Given the description of an element on the screen output the (x, y) to click on. 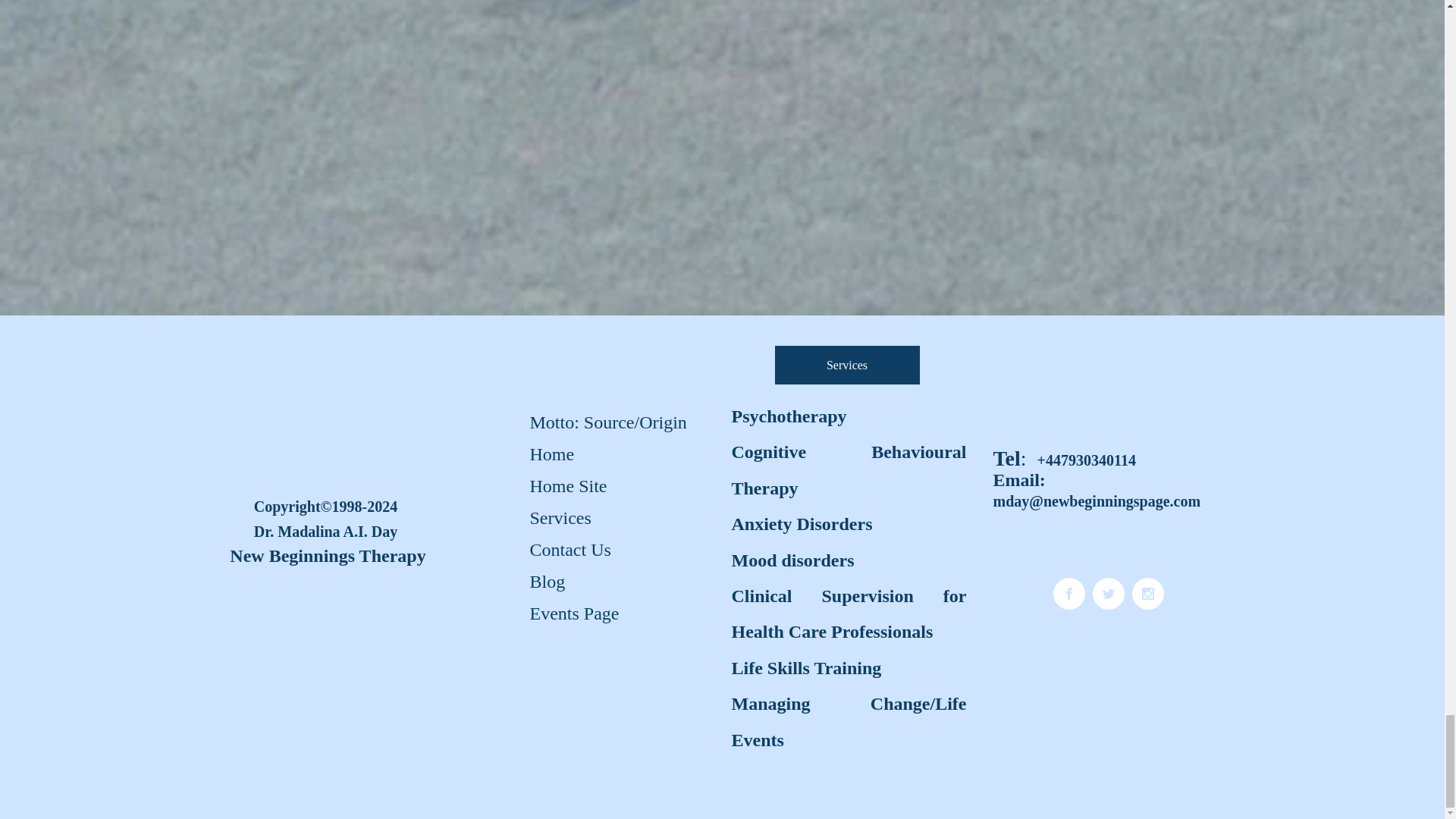
Home Site (567, 486)
Blog (546, 582)
Events Page (573, 613)
Home (550, 454)
Services (559, 518)
Contact Us (569, 550)
Services (847, 364)
